Given the description of an element on the screen output the (x, y) to click on. 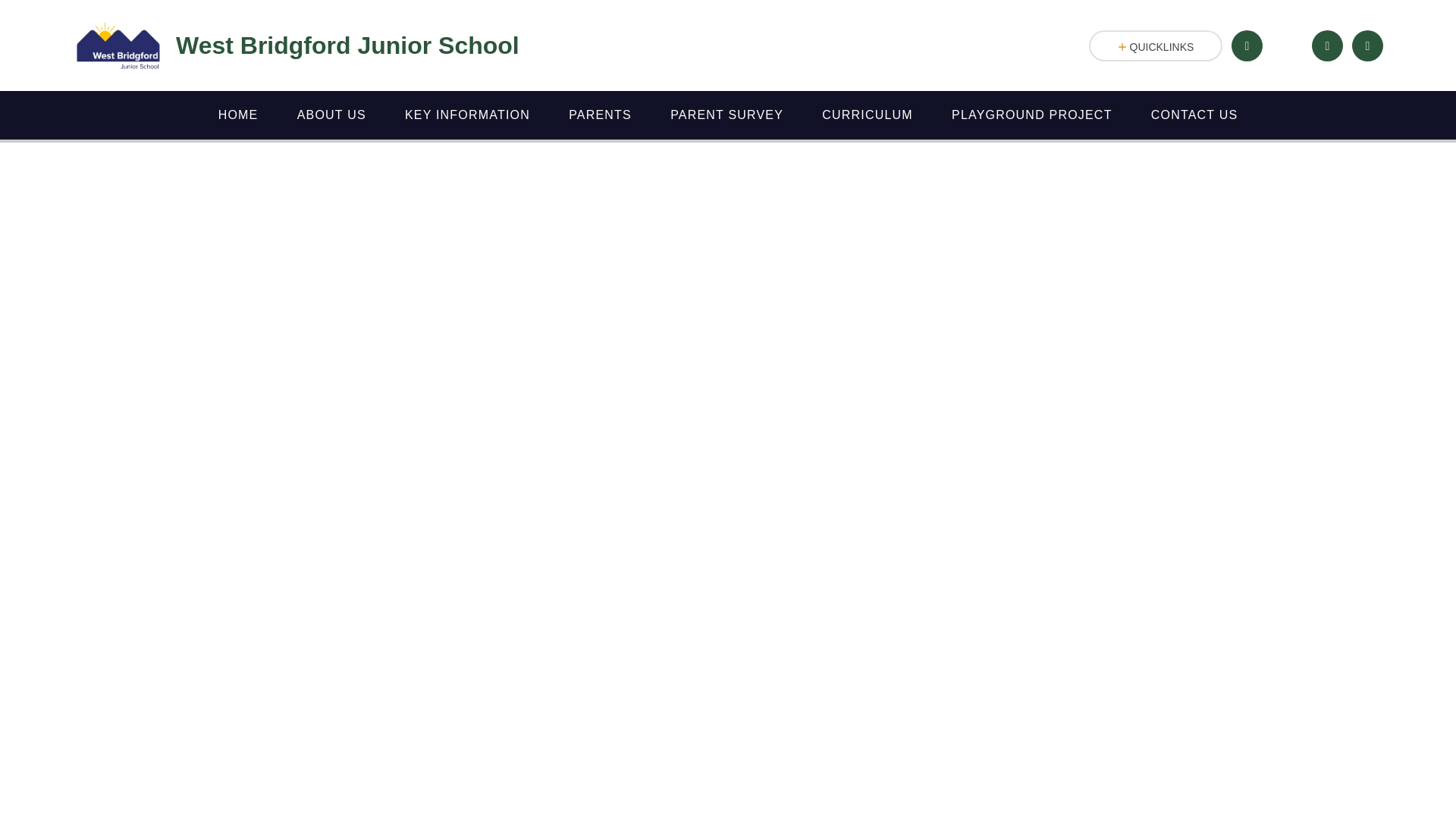
KEY INFORMATION (466, 114)
HOME (238, 114)
PARENTS (600, 114)
ABOUT US (331, 114)
West Bridgford Junior School (295, 45)
